Given the description of an element on the screen output the (x, y) to click on. 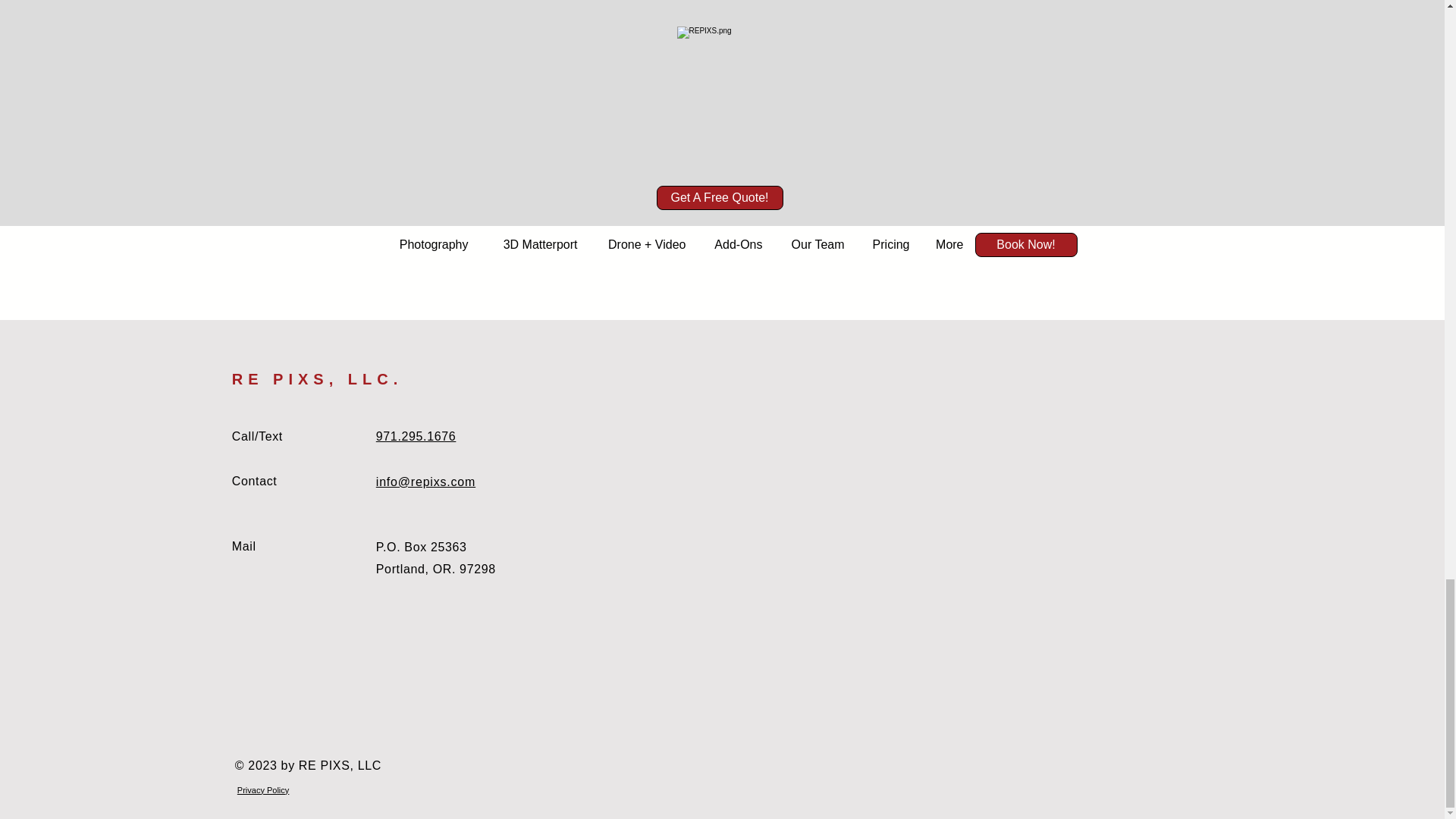
Privacy Policy (262, 789)
971.295.1676 (416, 436)
Contact (254, 481)
RE PIXS, LLC. (317, 379)
Mail (243, 545)
